Given the description of an element on the screen output the (x, y) to click on. 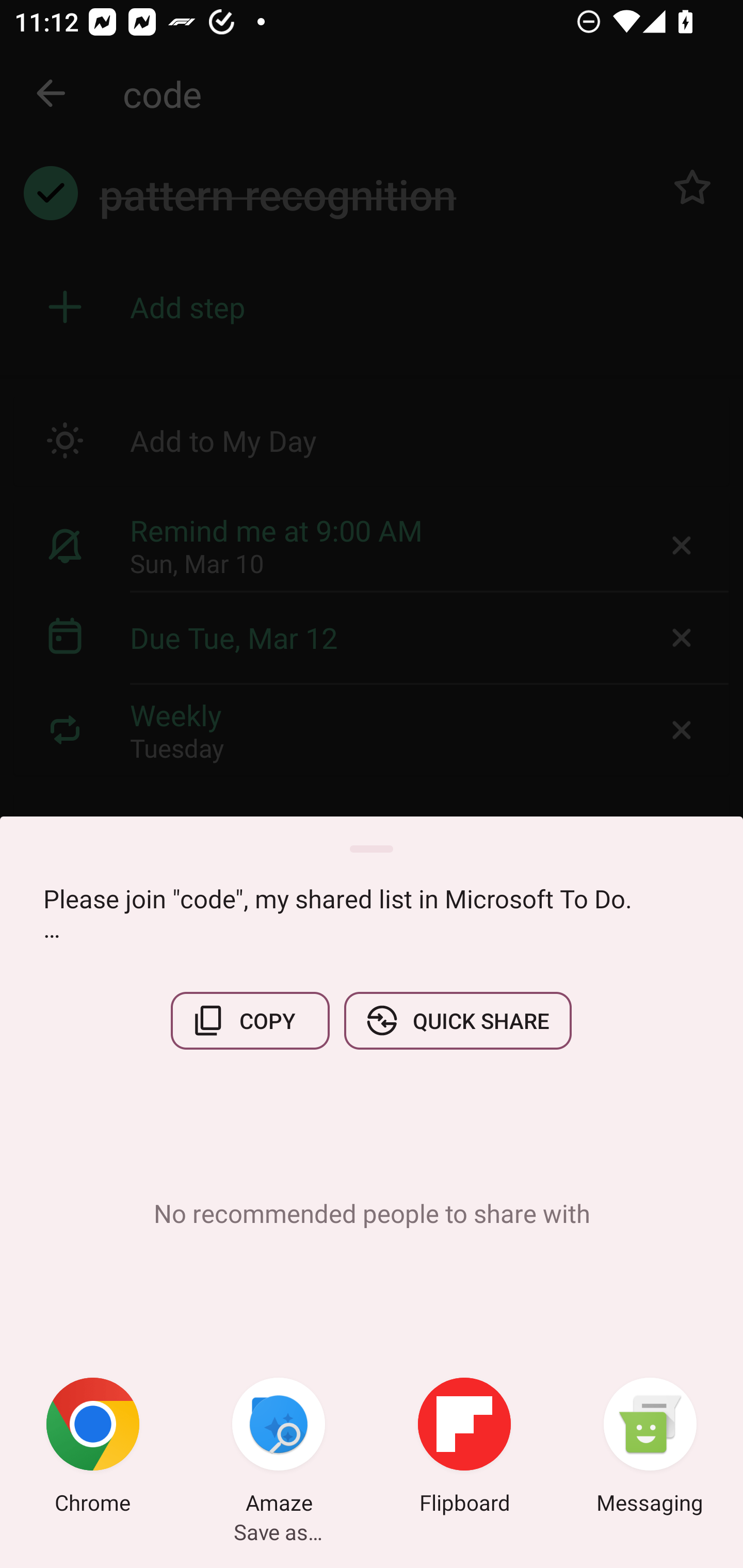
COPY (249, 1020)
QUICK SHARE (457, 1020)
Chrome (92, 1448)
Amaze Save as… (278, 1448)
Flipboard (464, 1448)
Messaging (650, 1448)
